Given the description of an element on the screen output the (x, y) to click on. 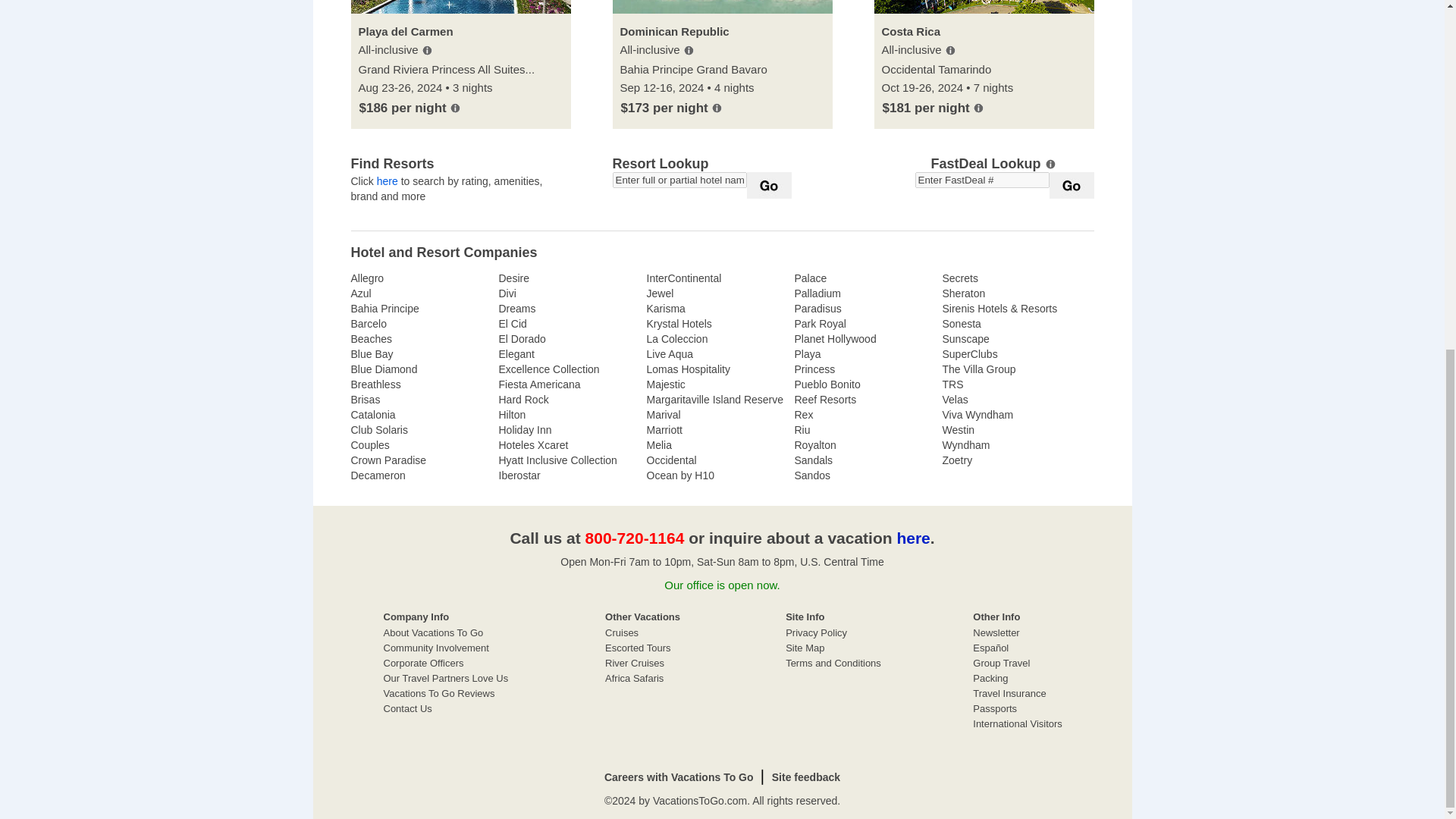
Enter full or partial hotel name (679, 179)
